Given the description of an element on the screen output the (x, y) to click on. 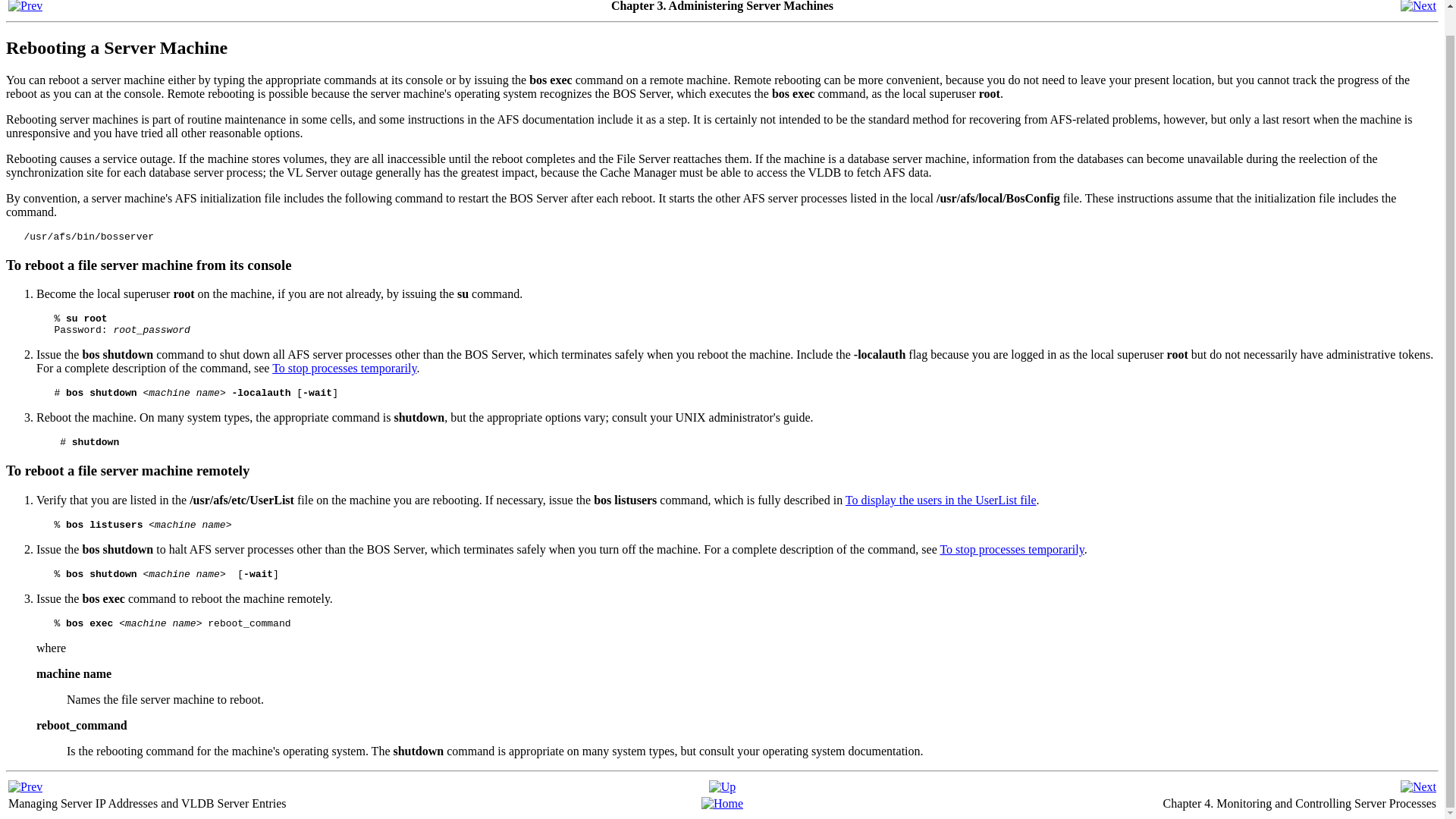
To stop processes temporarily (344, 367)
To stop processes temporarily (1011, 549)
To stop processes temporarily (344, 367)
To display the users in the UserList file (940, 499)
To display the users in the UserList file (940, 499)
To stop processes temporarily (1011, 549)
